Given the description of an element on the screen output the (x, y) to click on. 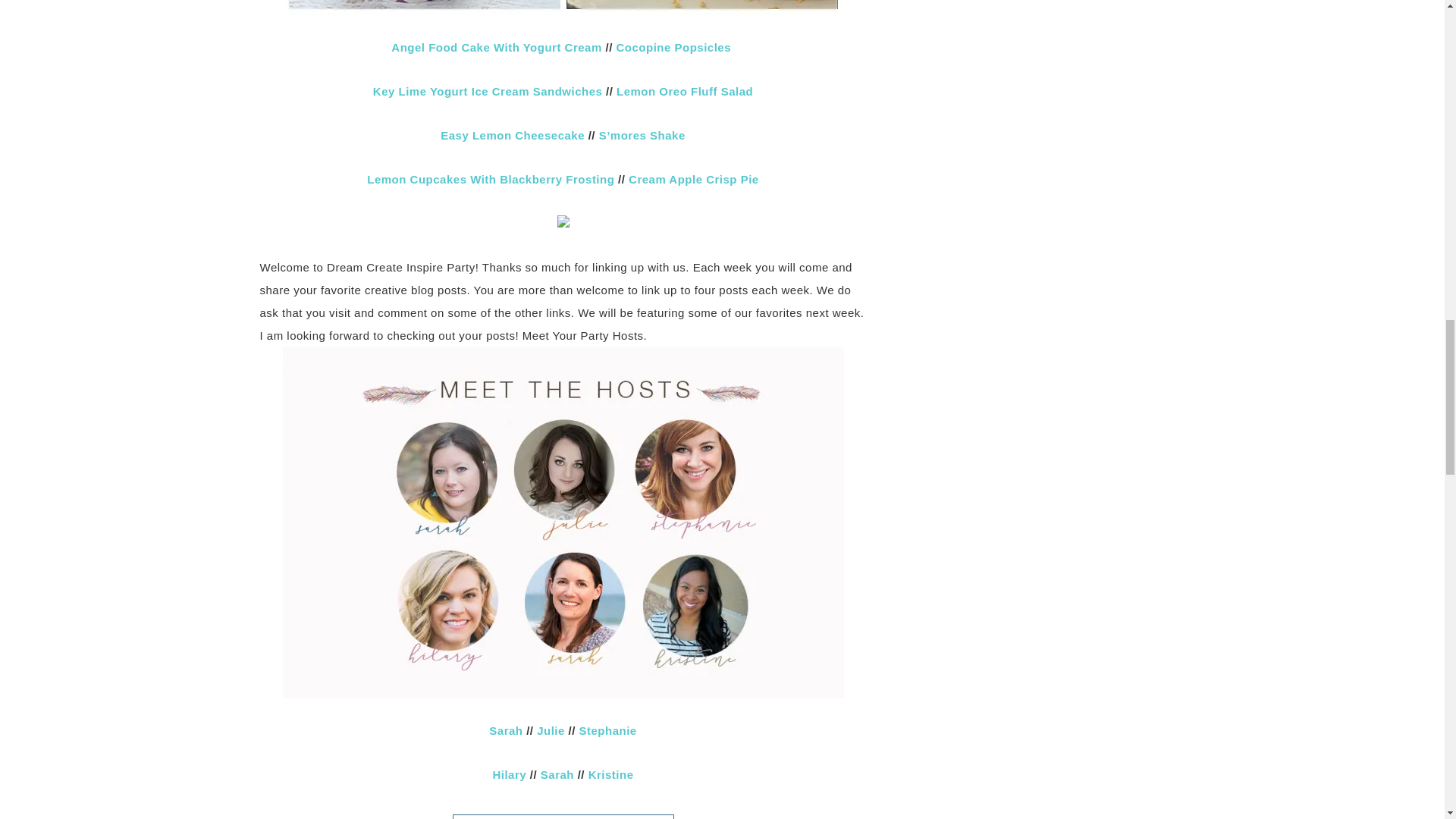
Best Summer Desserts (562, 7)
